Given the description of an element on the screen output the (x, y) to click on. 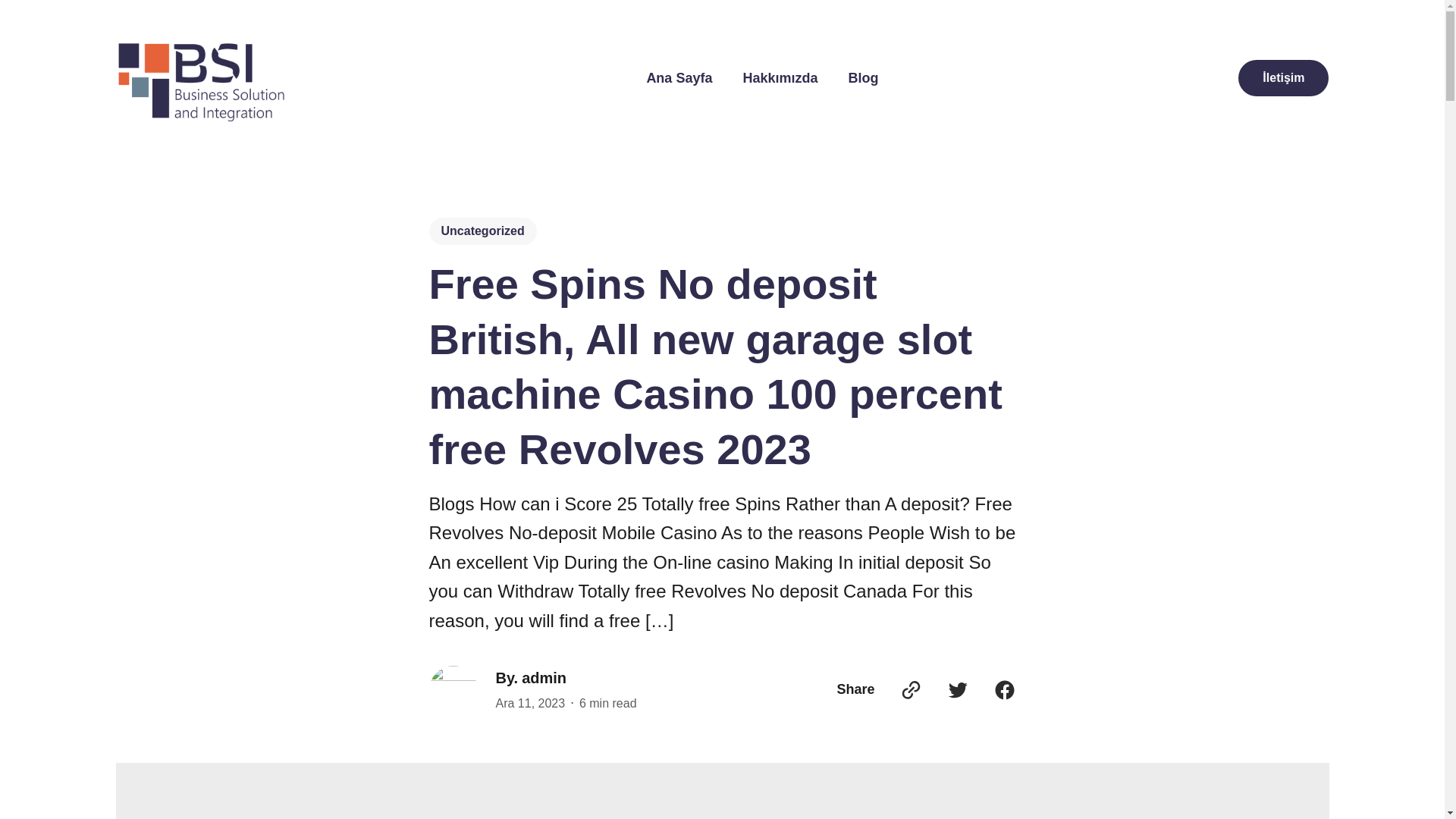
Uncategorized (483, 230)
Twitter (957, 689)
Facebook (1004, 689)
Link (910, 689)
Ana Sayfa (678, 78)
Blog (862, 78)
